Given the description of an element on the screen output the (x, y) to click on. 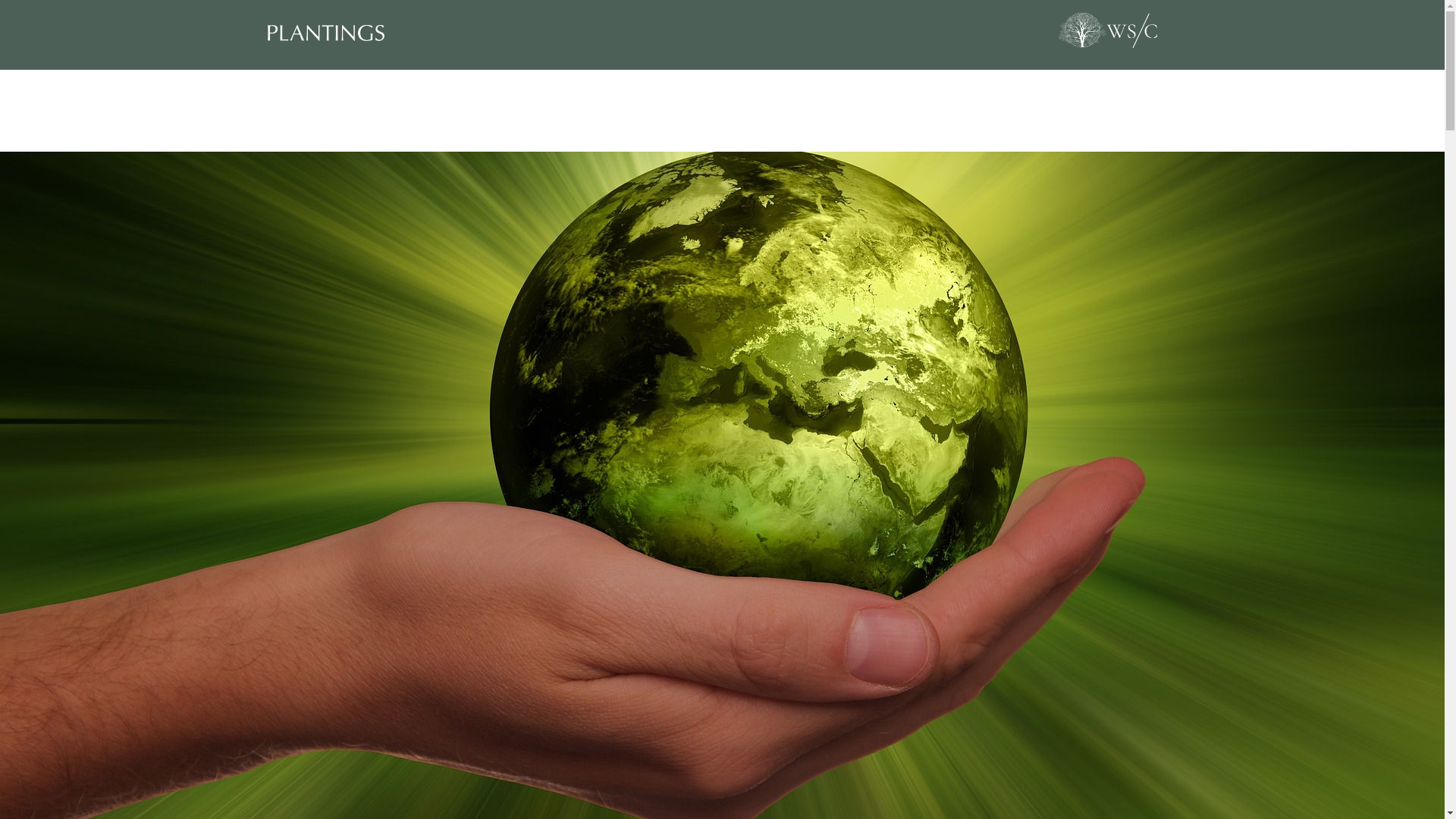
Plantings (484, 32)
